Given the description of an element on the screen output the (x, y) to click on. 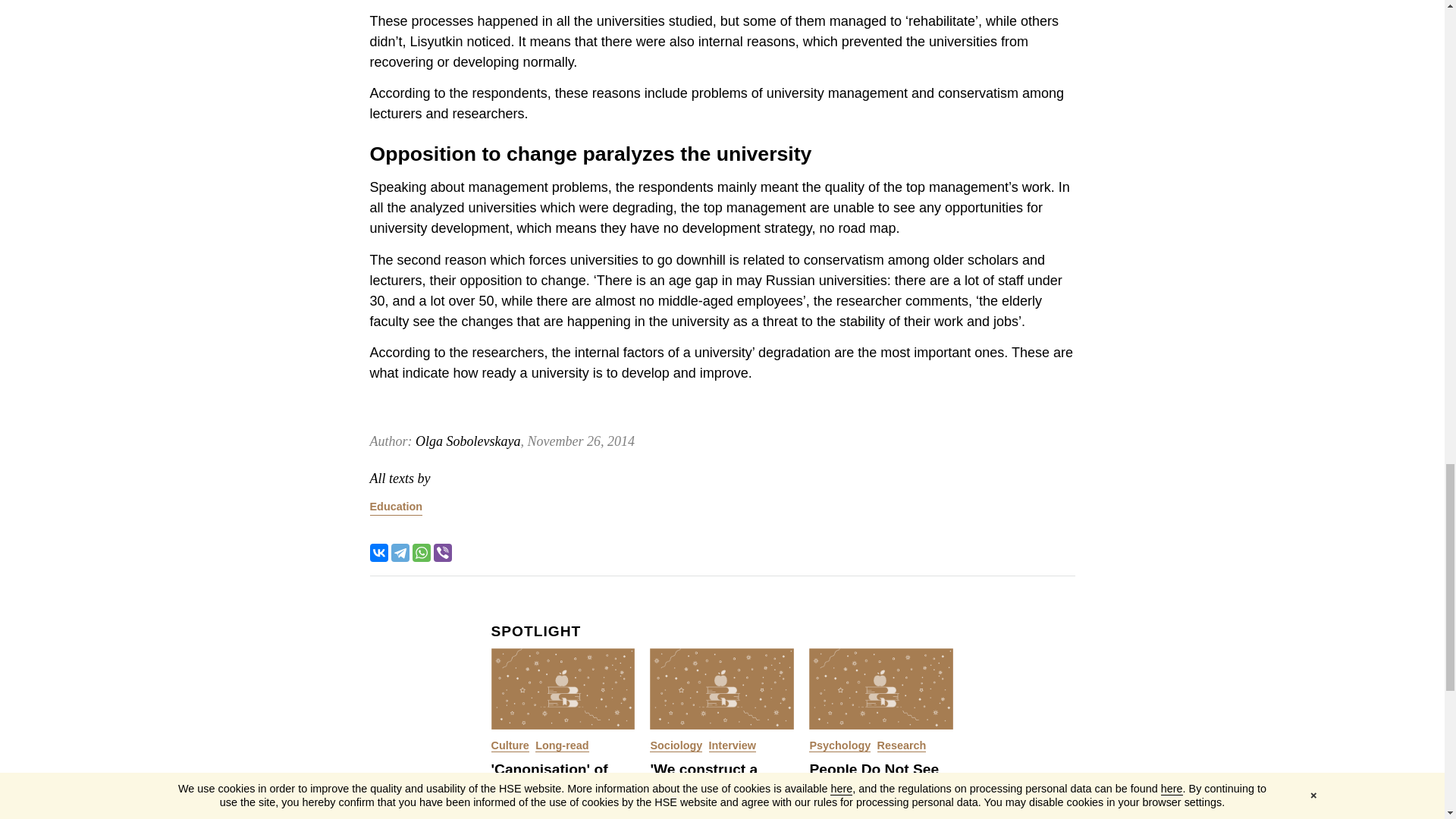
WhatsApp (421, 552)
Education (396, 507)
Telegram (400, 552)
VKontakte (378, 552)
Culture (510, 745)
Viber (442, 552)
Olga Sobolevskaya (466, 441)
All texts by (399, 478)
